Given the description of an element on the screen output the (x, y) to click on. 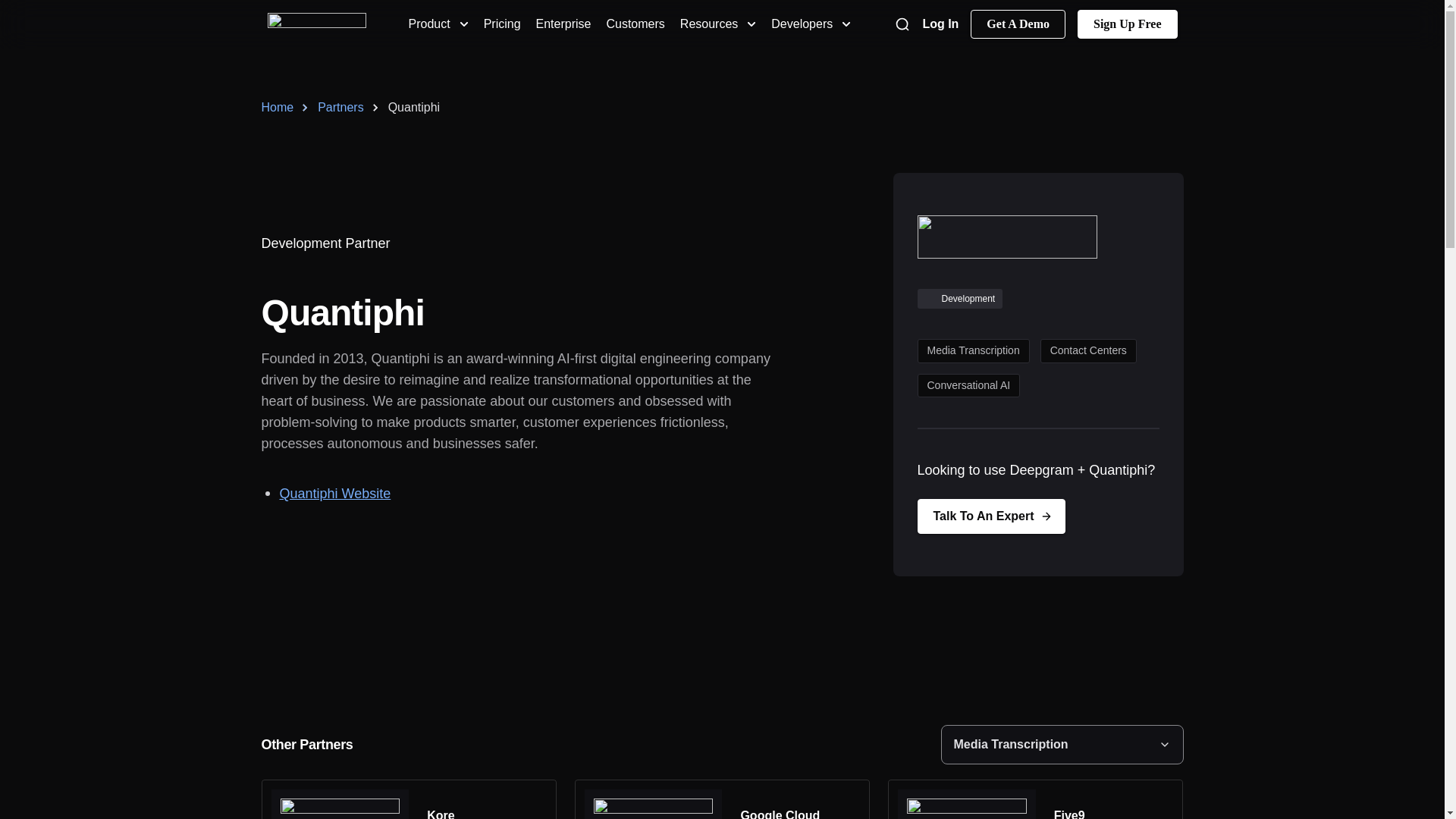
Partners (330, 107)
Get A Demo (1018, 23)
Home (277, 107)
Sign Up Free (1126, 23)
Quantiphi Website (334, 493)
Talk To An Expert (991, 515)
Pricing (502, 24)
Enterprise (563, 24)
Customers (634, 24)
Log In (939, 24)
